Given the description of an element on the screen output the (x, y) to click on. 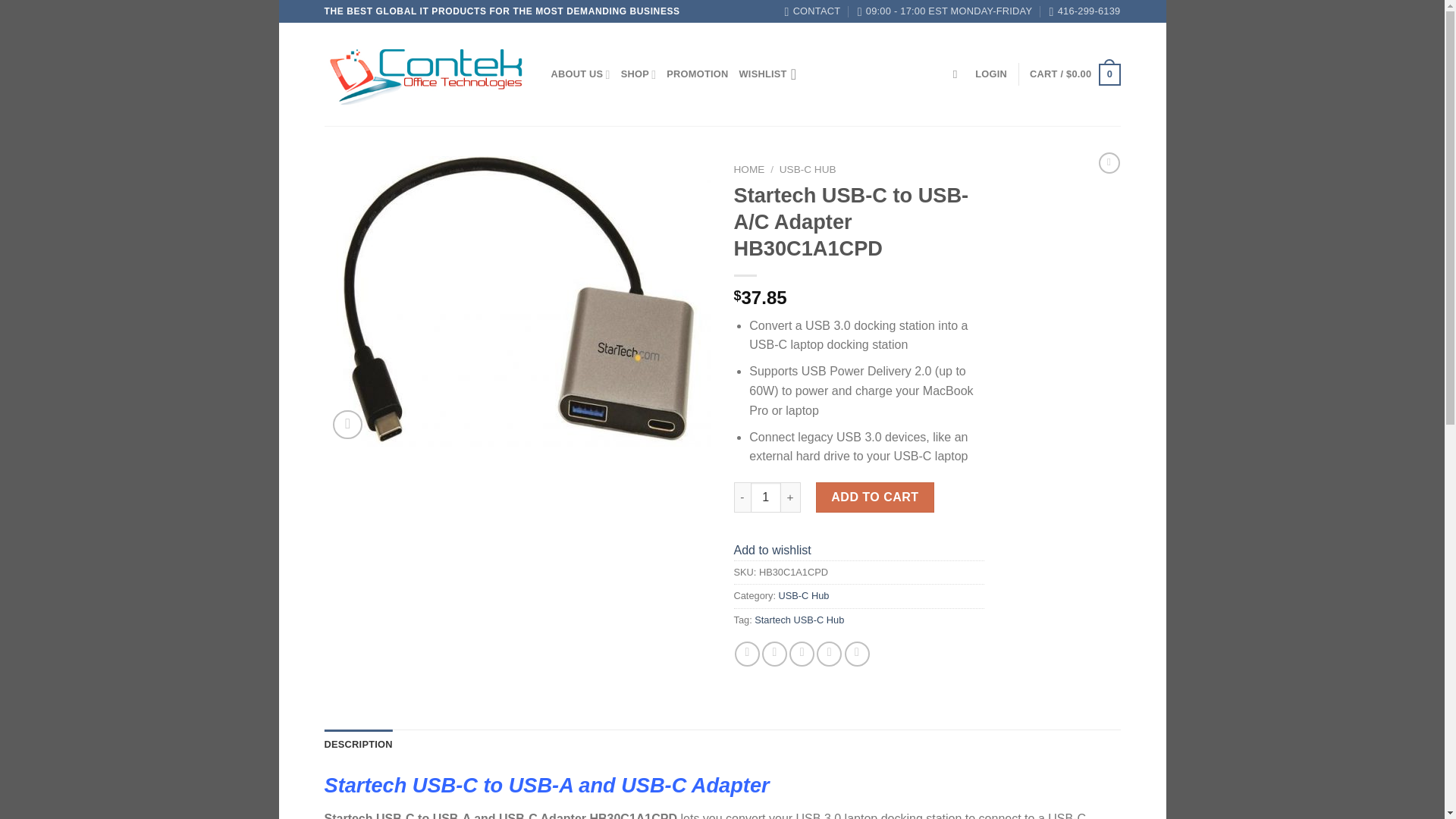
SHOP (638, 73)
Qty (765, 497)
Zoom (347, 424)
Email to a Friend (801, 653)
Share on LinkedIn (856, 653)
Pin on Pinterest (828, 653)
CONTACT (812, 11)
ABOUT US (580, 73)
Share on Facebook (747, 653)
Share on Twitter (774, 653)
